Given the description of an element on the screen output the (x, y) to click on. 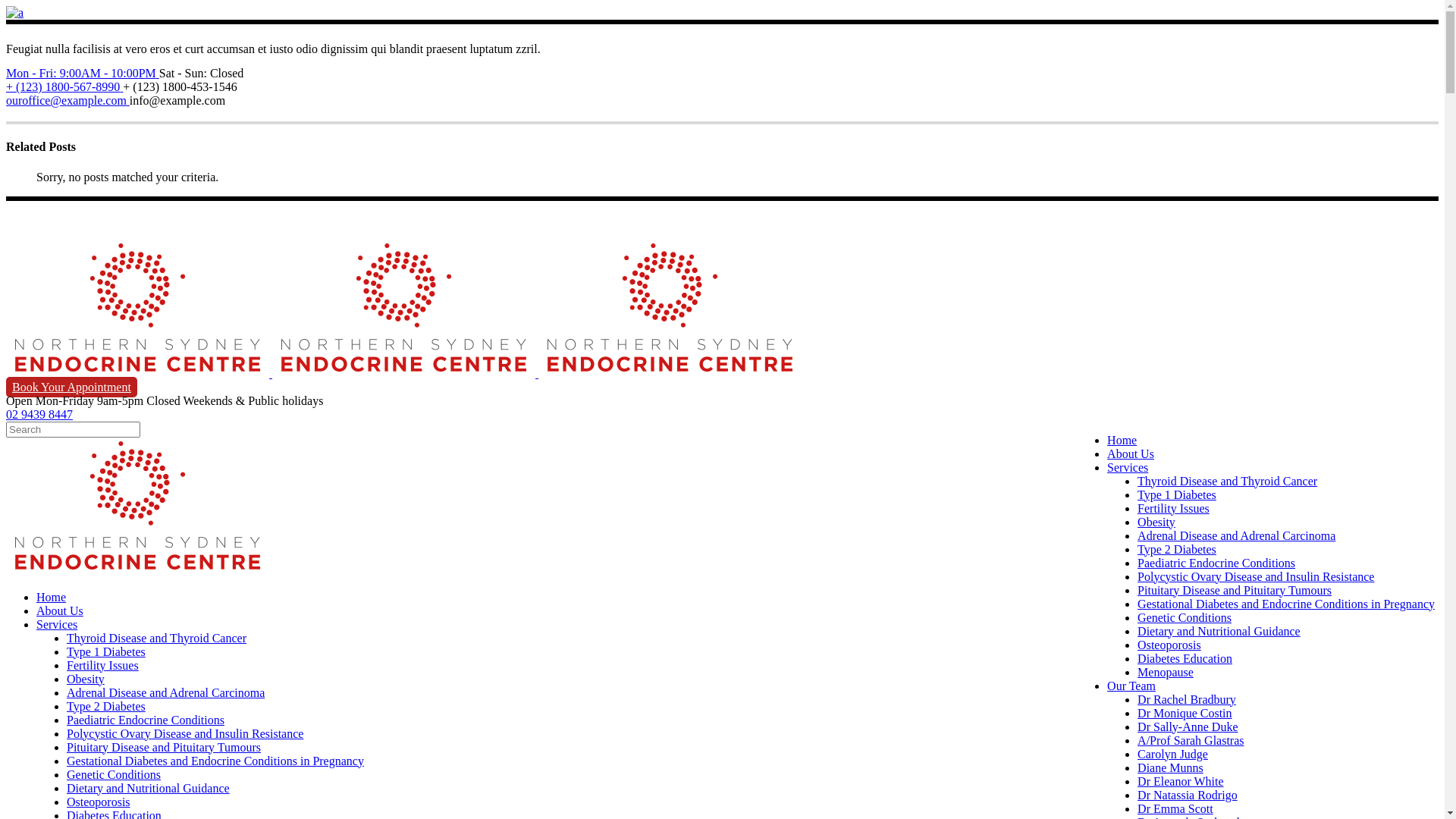
Fertility Issues Element type: text (102, 664)
Pituitary Disease and Pituitary Tumours Element type: text (163, 746)
Type 2 Diabetes Element type: text (105, 705)
Diabetes Education Element type: text (1184, 658)
Services Element type: text (56, 624)
Menopause Element type: text (1165, 671)
Type 1 Diabetes Element type: text (105, 651)
Dr Eleanor White Element type: text (1180, 781)
Services Element type: text (1127, 467)
Dr Sally-Anne Duke Element type: text (1187, 726)
Thyroid Disease and Thyroid Cancer Element type: text (1227, 480)
Adrenal Disease and Adrenal Carcinoma Element type: text (1236, 535)
Gestational Diabetes and Endocrine Conditions in Pregnancy Element type: text (1285, 603)
Obesity Element type: text (1156, 521)
Diane Munns Element type: text (1170, 767)
Dr Emma Scott Element type: text (1175, 808)
Home Element type: text (50, 596)
Paediatric Endocrine Conditions Element type: text (145, 719)
Gestational Diabetes and Endocrine Conditions in Pregnancy Element type: text (215, 760)
About Us Element type: text (59, 610)
Genetic Conditions Element type: text (1184, 617)
ouroffice@example.com Element type: text (67, 100)
Thyroid Disease and Thyroid Cancer Element type: text (156, 637)
Polycystic Ovary Disease and Insulin Resistance Element type: text (184, 733)
Type 1 Diabetes Element type: text (1176, 494)
Dr Monique Costin Element type: text (1184, 712)
Our Team Element type: text (1131, 685)
Osteoporosis Element type: text (98, 801)
Dr Natassia Rodrigo Element type: text (1187, 794)
Mon - Fri: 9:00AM - 10:00PM Element type: text (82, 72)
A/Prof Sarah Glastras Element type: text (1190, 740)
Type 2 Diabetes Element type: text (1176, 548)
Home Element type: text (1121, 439)
Dr Rachel Bradbury Element type: text (1186, 699)
Dietary and Nutritional Guidance Element type: text (147, 787)
02 9439 8447 Element type: text (39, 413)
Book Your Appointment Element type: text (71, 386)
Paediatric Endocrine Conditions Element type: text (1216, 562)
Osteoporosis Element type: text (1169, 644)
+ (123) 1800-567-8990 Element type: text (64, 86)
Pituitary Disease and Pituitary Tumours Element type: text (1234, 589)
Genetic Conditions Element type: text (113, 774)
Dietary and Nutritional Guidance Element type: text (1218, 630)
About Us Element type: text (1130, 453)
Carolyn Judge Element type: text (1172, 753)
Fertility Issues Element type: text (1173, 508)
Adrenal Disease and Adrenal Carcinoma Element type: text (165, 692)
Obesity Element type: text (85, 678)
Polycystic Ovary Disease and Insulin Resistance Element type: text (1255, 576)
